Given the description of an element on the screen output the (x, y) to click on. 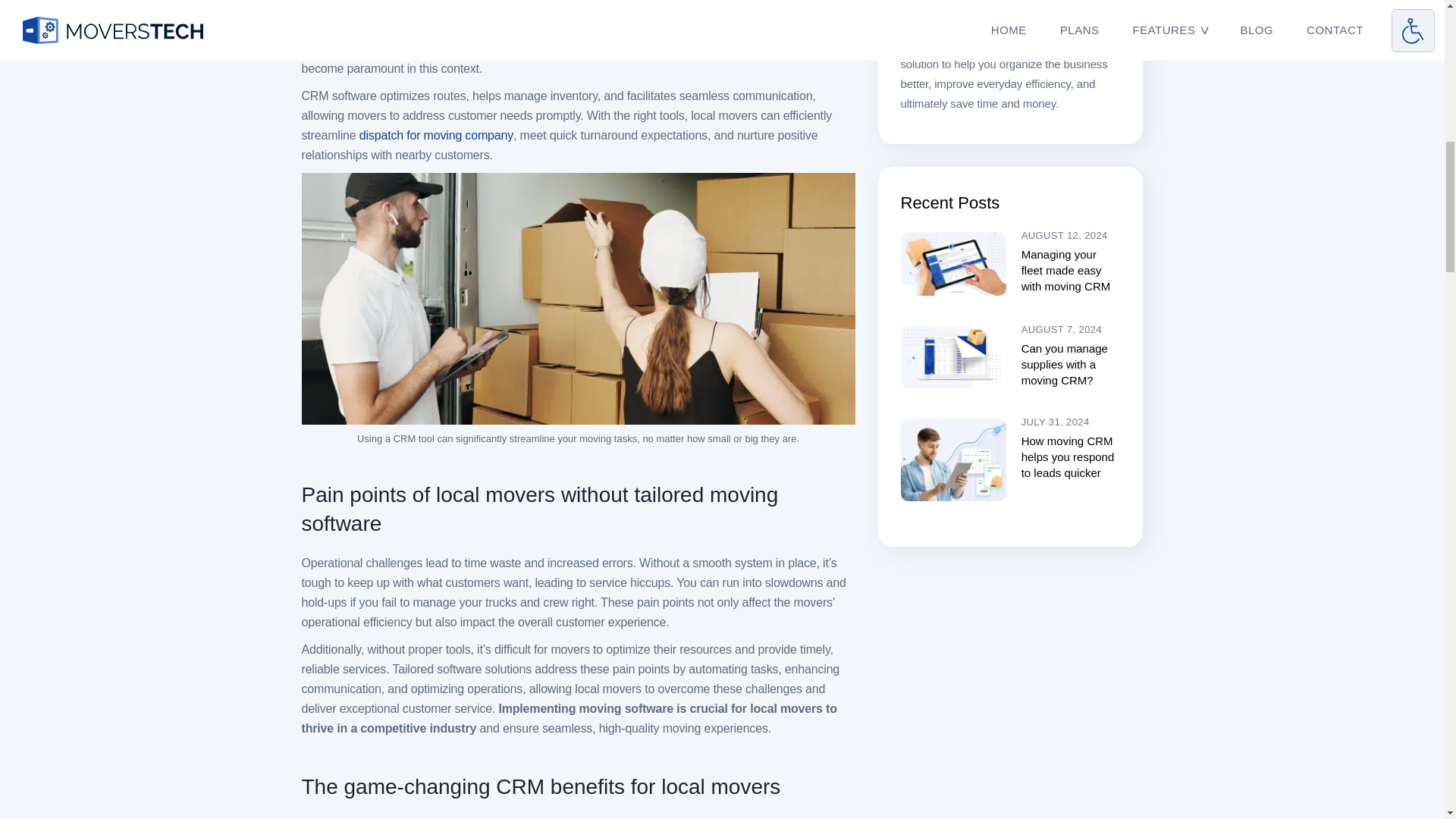
dispatch for moving company (436, 134)
Managing your fleet made easy with moving CRM (1066, 270)
 How moving CRM helps you respond to leads quicker (1068, 456)
 Managing your fleet made easy with moving CRM (1066, 270)
How moving CRM helps you respond to leads quicker (953, 458)
Can you manage supplies with a moving CRM? (953, 356)
Can you manage supplies with a moving CRM? (1065, 364)
How moving CRM helps you respond to leads quicker (1068, 456)
 Can you manage supplies with a moving CRM? (1065, 364)
Managing your fleet made easy with moving CRM (953, 263)
